Given the description of an element on the screen output the (x, y) to click on. 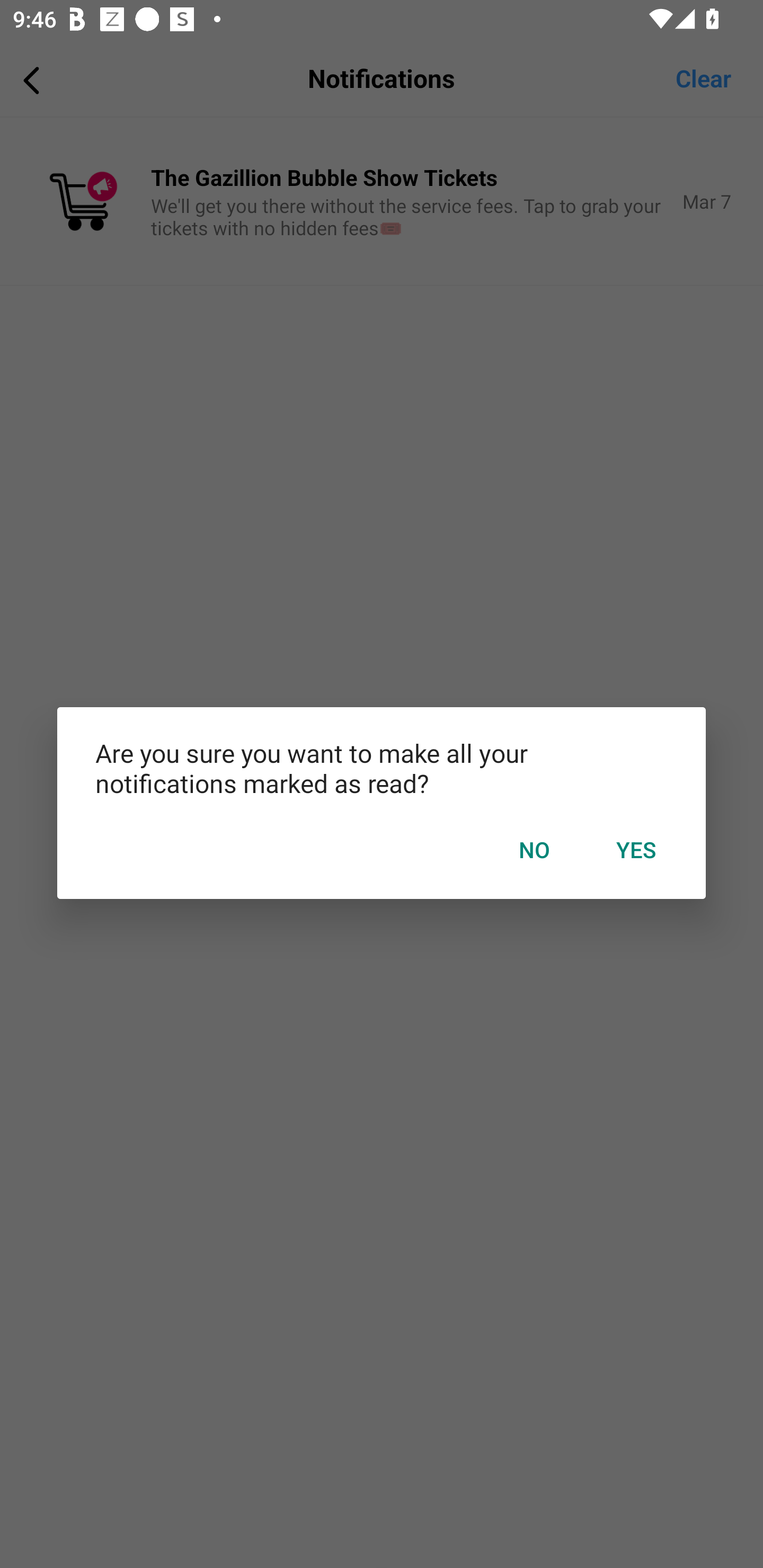
NO (533, 849)
YES (635, 849)
